Given the description of an element on the screen output the (x, y) to click on. 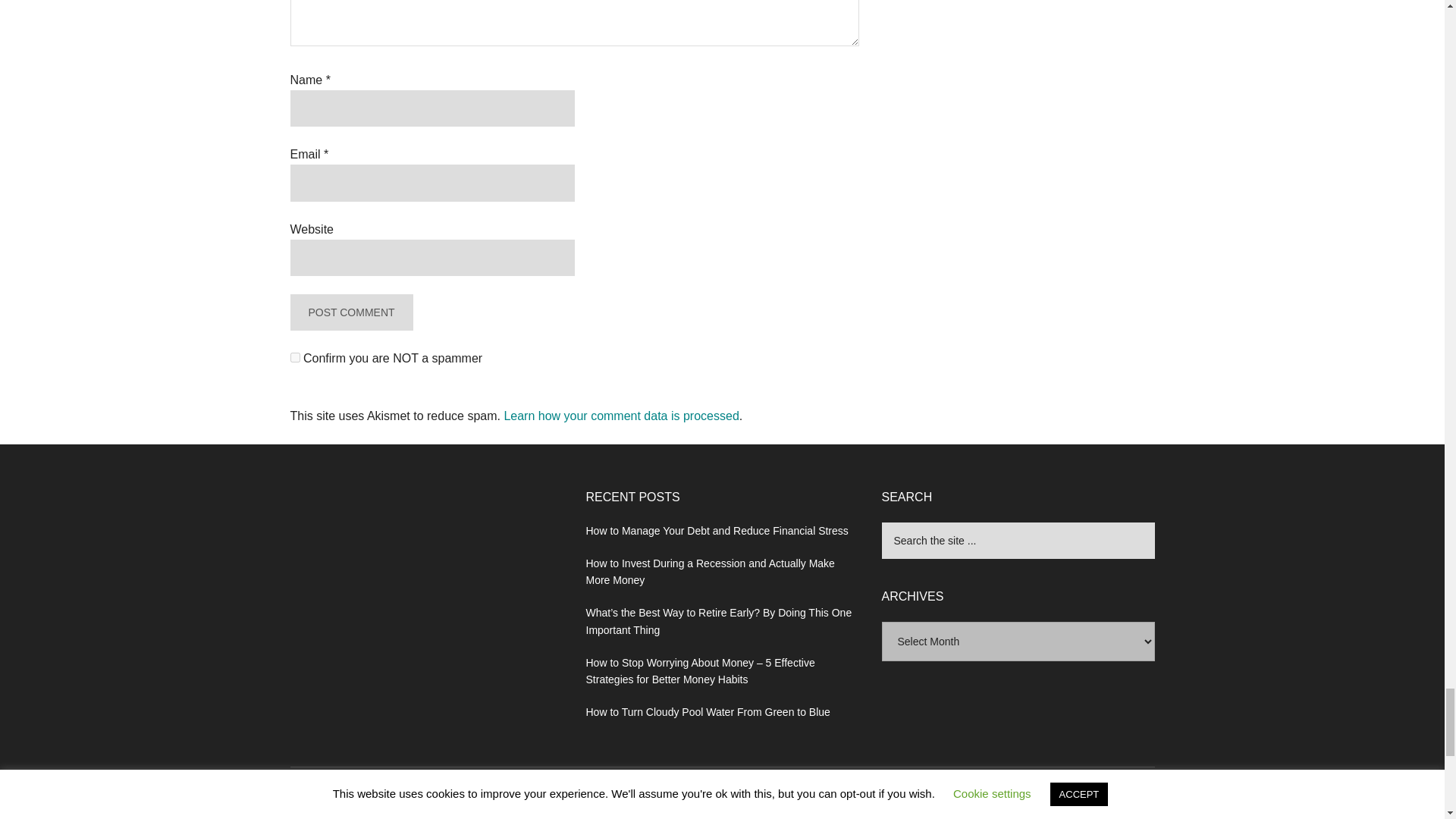
Post Comment (350, 312)
on (294, 357)
